Given the description of an element on the screen output the (x, y) to click on. 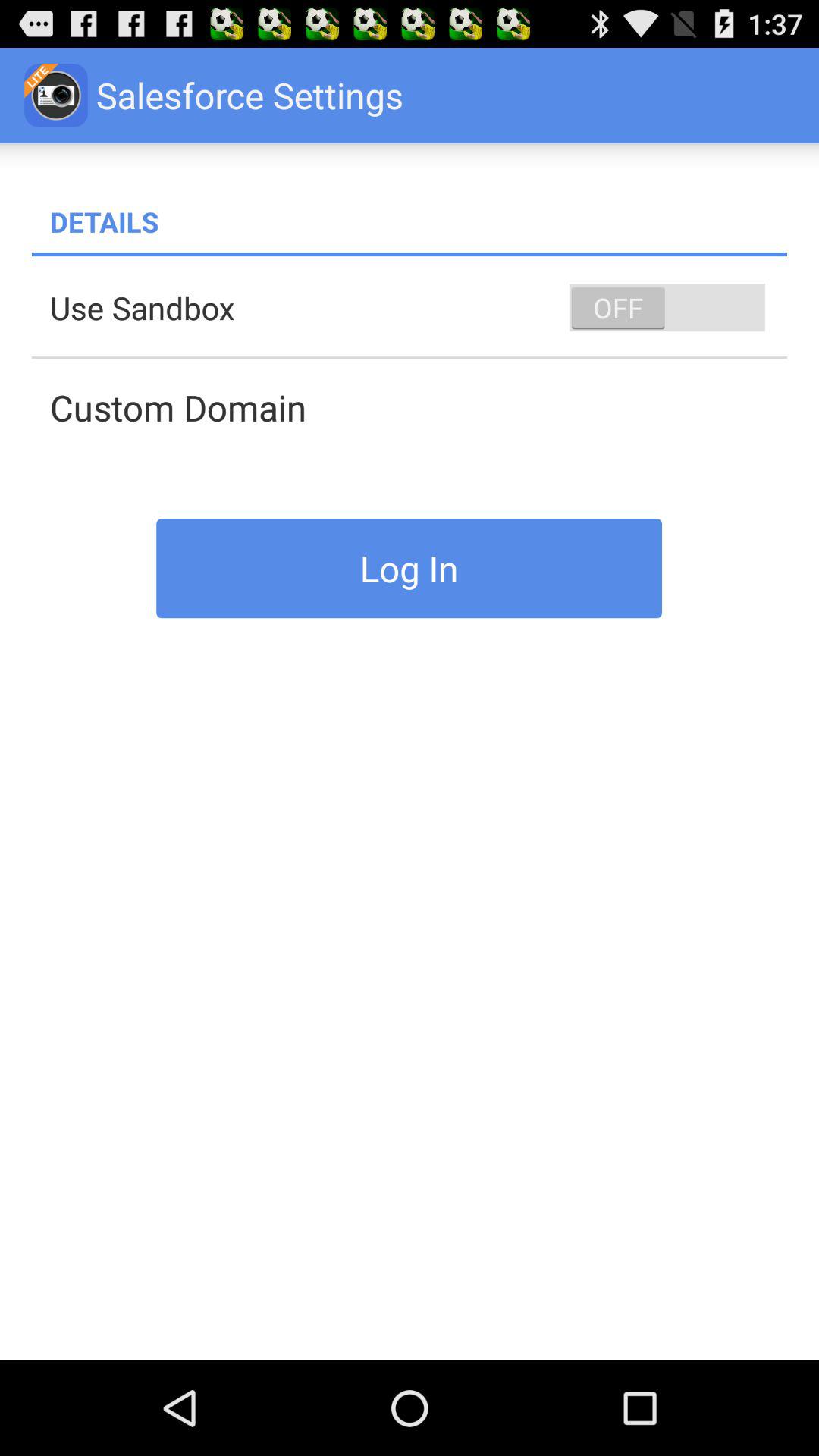
swipe to the use sandbox app (418, 307)
